Given the description of an element on the screen output the (x, y) to click on. 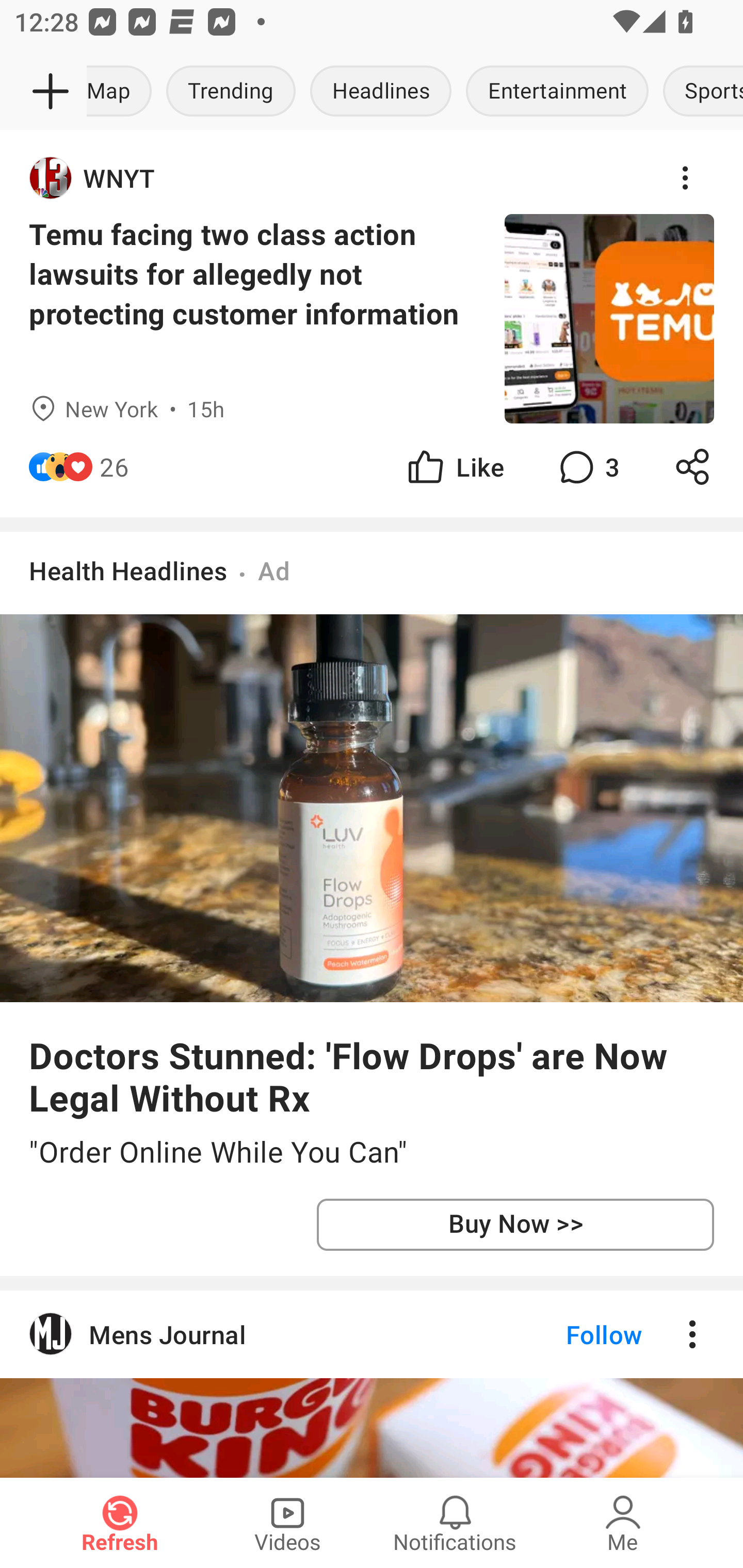
Crime Map (122, 91)
Trending (231, 91)
Headlines (380, 91)
Entertainment (557, 91)
26 (113, 466)
Like (454, 466)
3 (587, 466)
Health Headlines (127, 570)
"Order Online While You Can" (371, 1152)
Buy Now >> (515, 1224)
Mens Journal Follow (371, 1334)
Follow (569, 1334)
Videos (287, 1522)
Notifications (455, 1522)
Me (622, 1522)
